Given the description of an element on the screen output the (x, y) to click on. 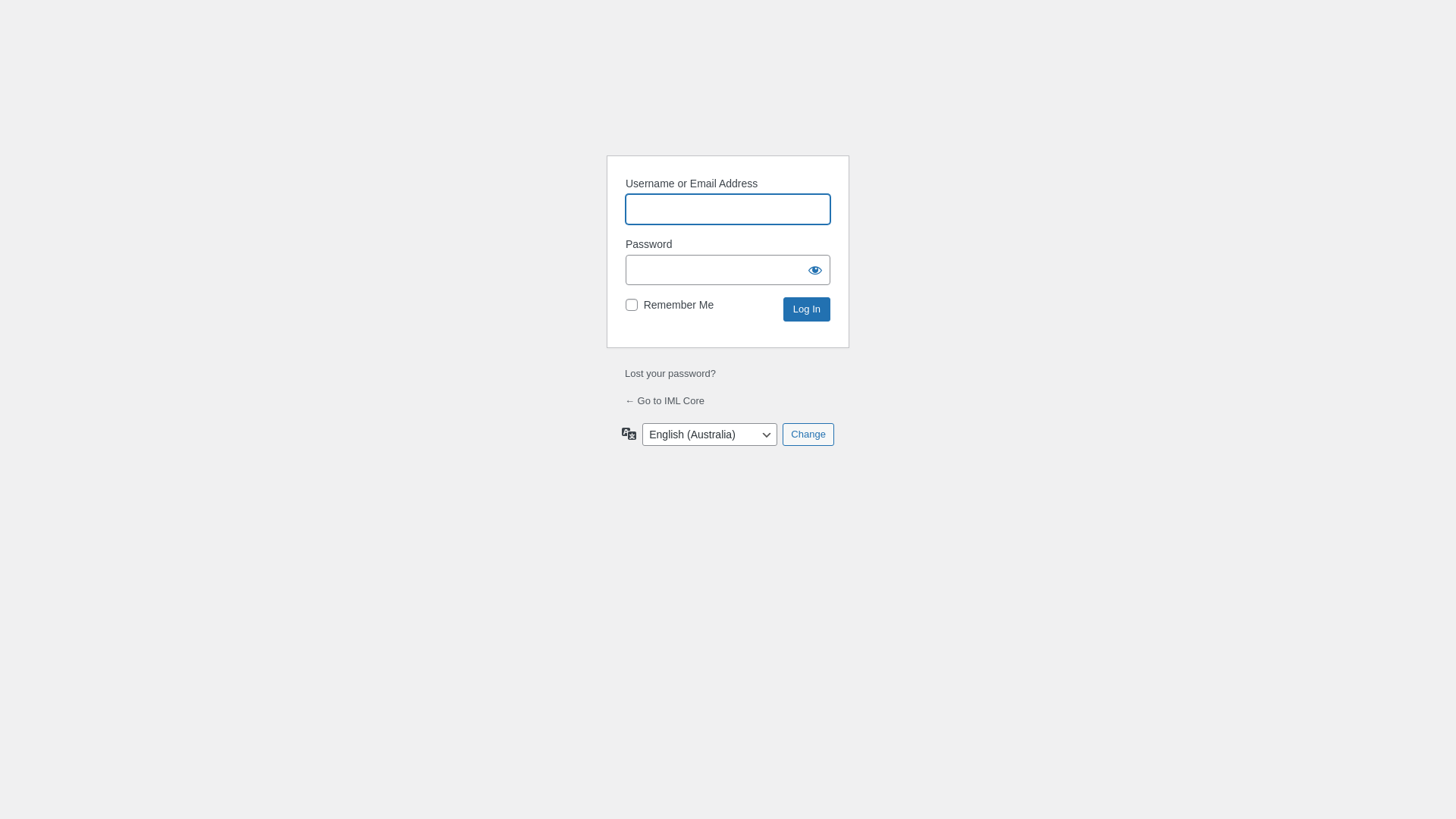
Powered by WordPress Element type: text (727, 104)
Log In Element type: text (806, 309)
Lost your password? Element type: text (669, 373)
Change Element type: text (808, 434)
